Given the description of an element on the screen output the (x, y) to click on. 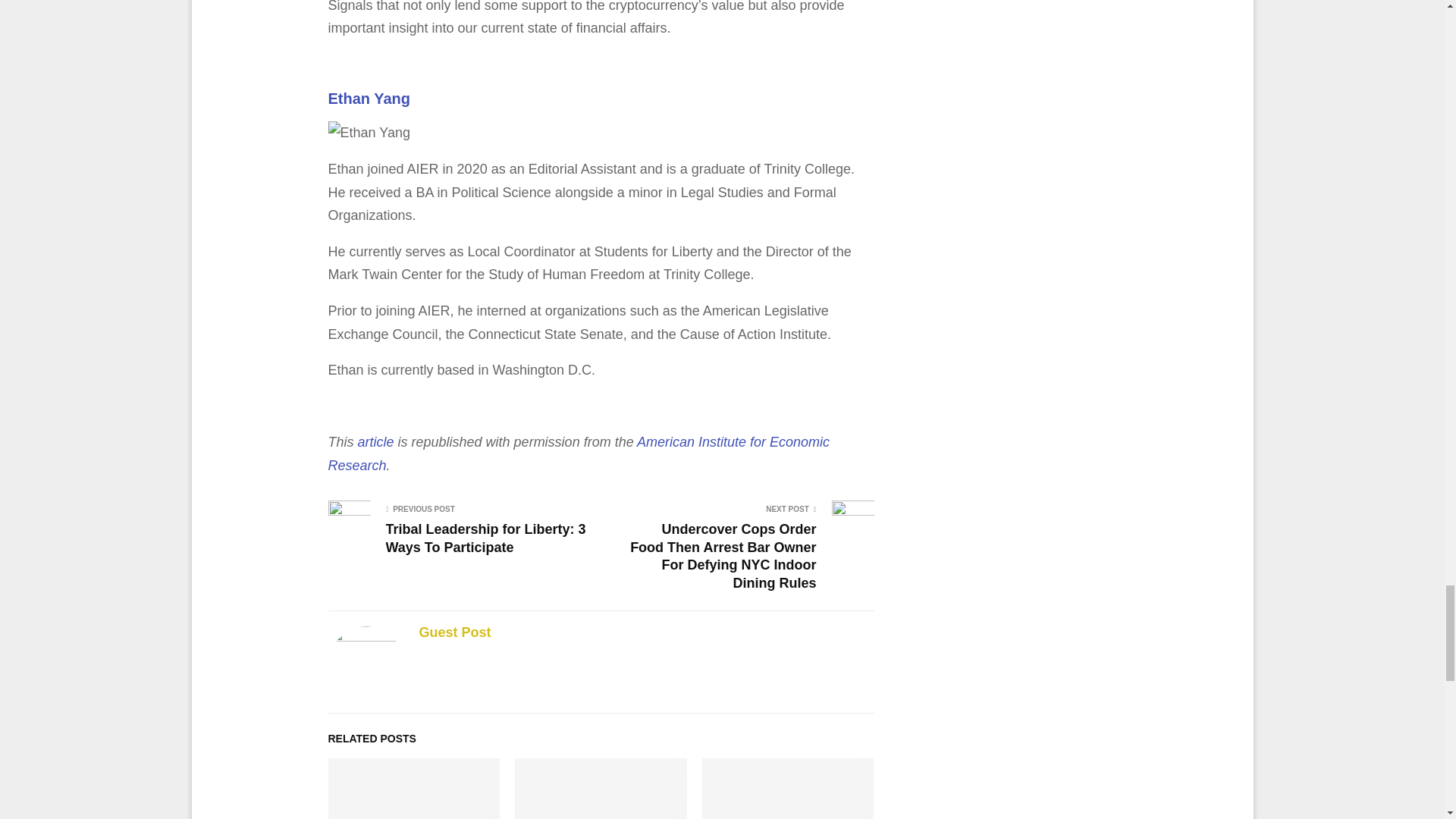
Posts by Guest Post (454, 632)
